Given the description of an element on the screen output the (x, y) to click on. 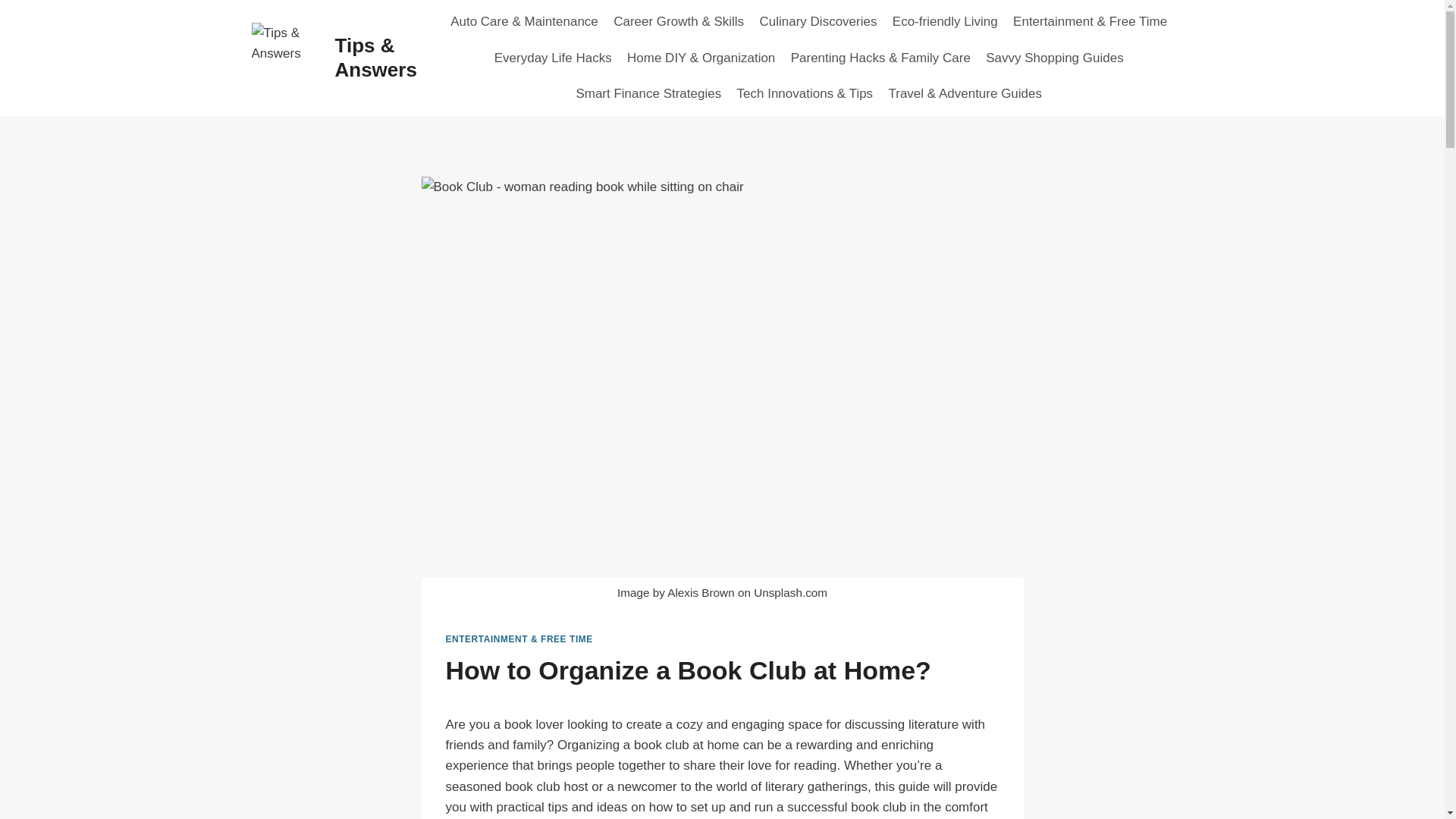
Smart Finance Strategies (648, 94)
Everyday Life Hacks (553, 58)
Savvy Shopping Guides (1054, 58)
Culinary Discoveries (817, 22)
Eco-friendly Living (945, 22)
